Given the description of an element on the screen output the (x, y) to click on. 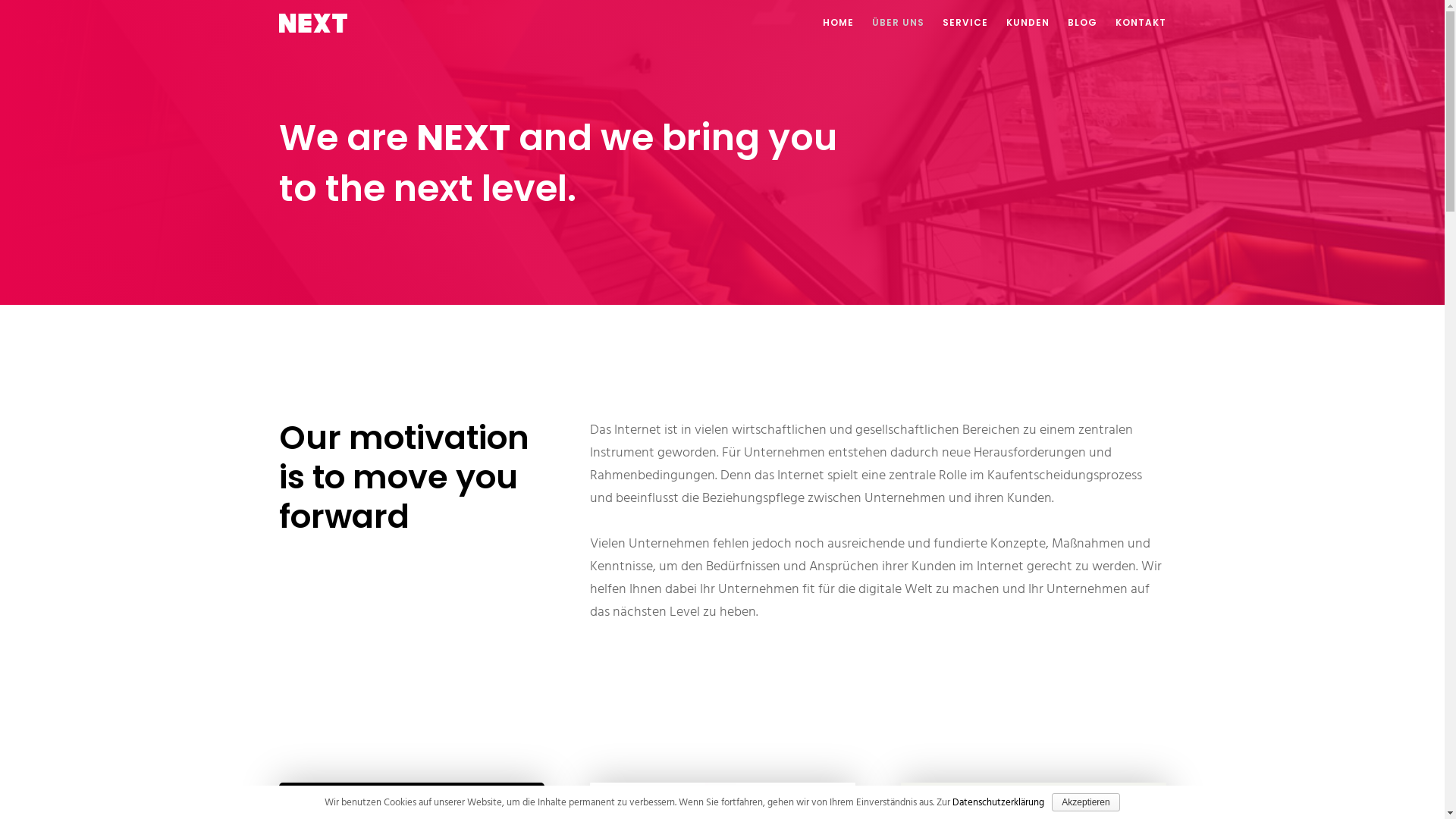
KUNDEN Element type: text (1017, 22)
HOME Element type: text (828, 22)
SERVICE Element type: text (955, 22)
BLOG Element type: text (1073, 22)
KONTAKT Element type: text (1130, 22)
Akzeptieren Element type: text (1085, 802)
